Given the description of an element on the screen output the (x, y) to click on. 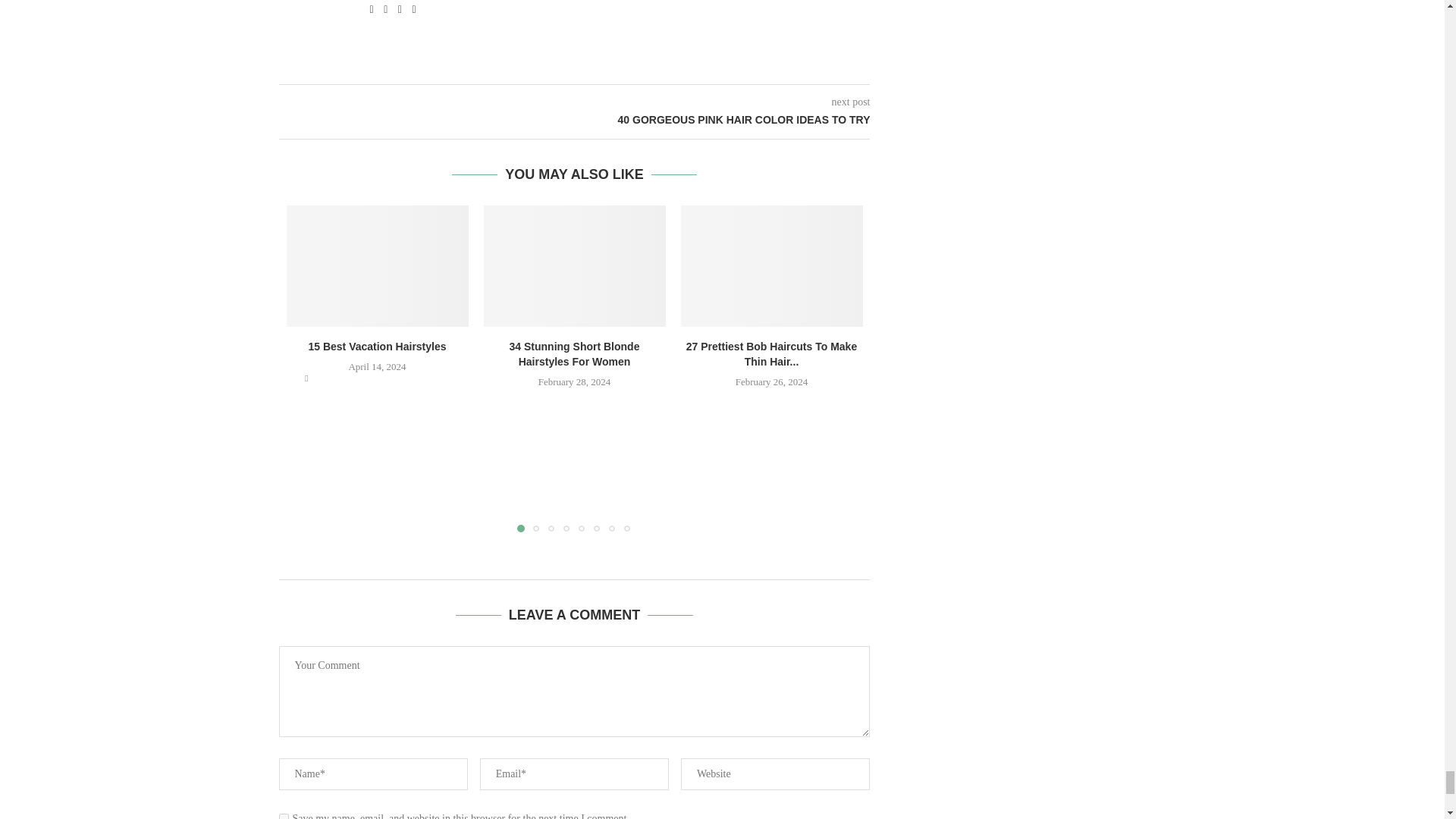
yes (283, 816)
